Given the description of an element on the screen output the (x, y) to click on. 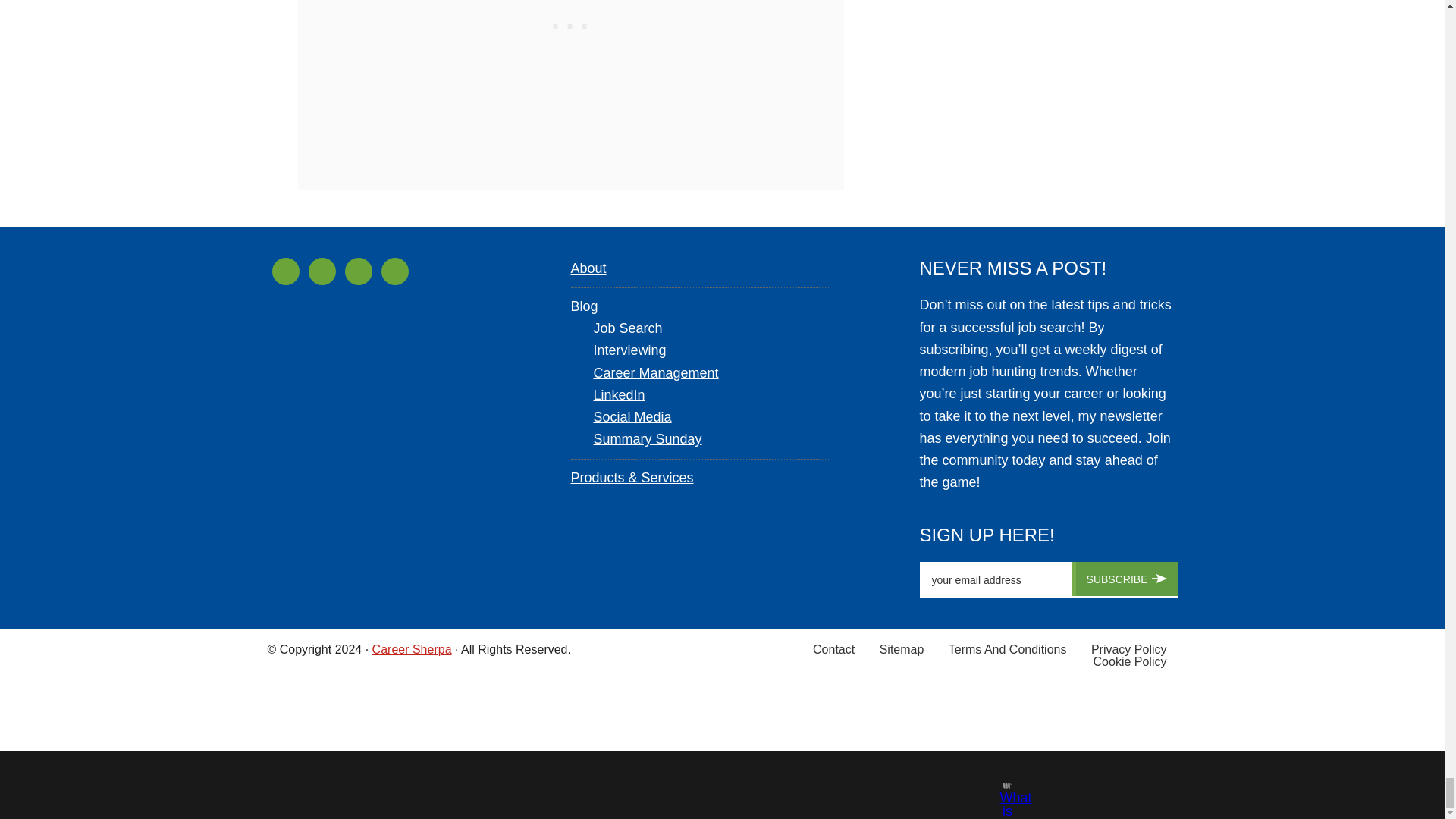
SUBSCRIBE (1124, 578)
Career Sherpa (411, 648)
